Given the description of an element on the screen output the (x, y) to click on. 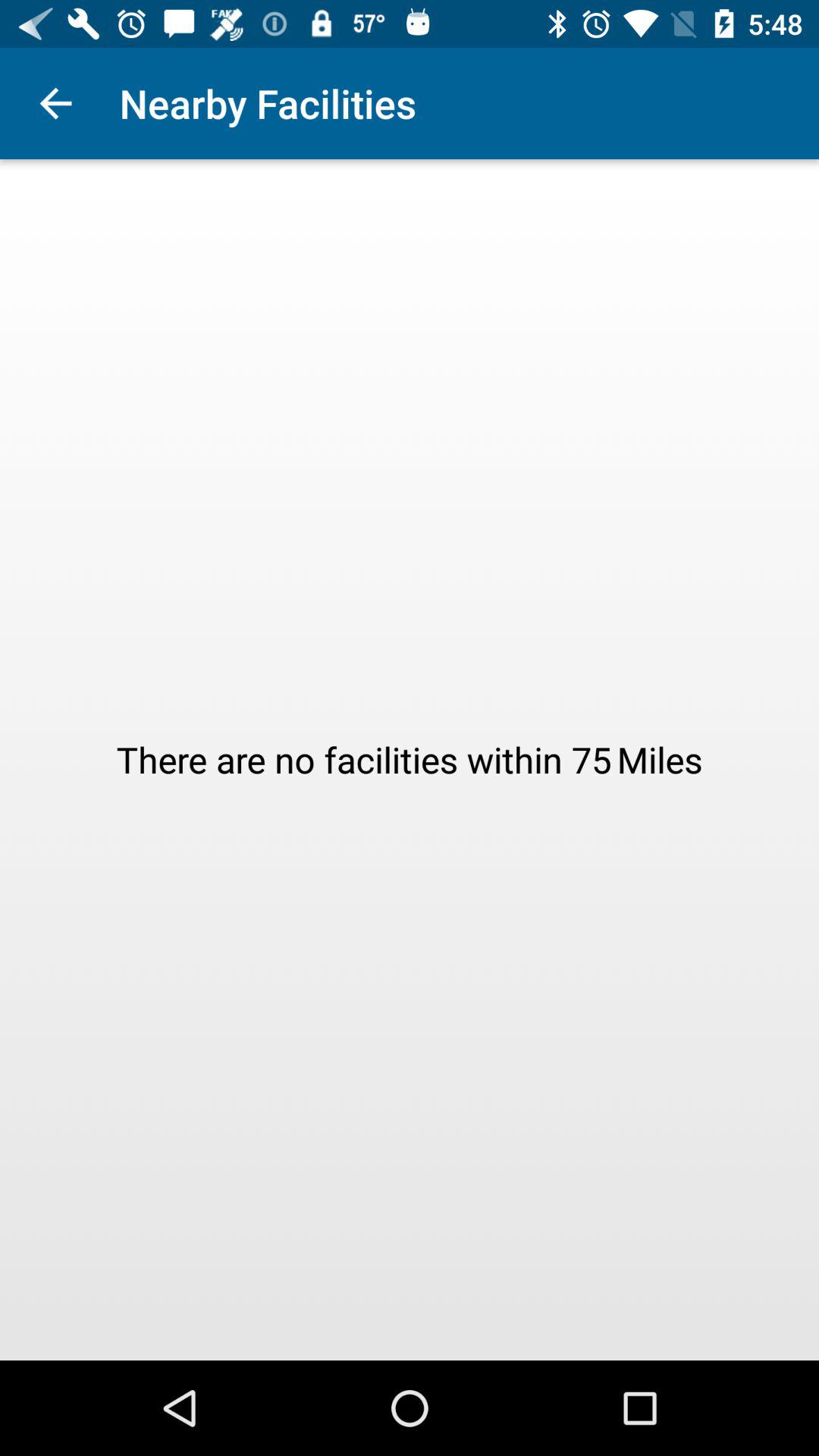
tap the app to the left of the nearby facilities icon (55, 103)
